Given the description of an element on the screen output the (x, y) to click on. 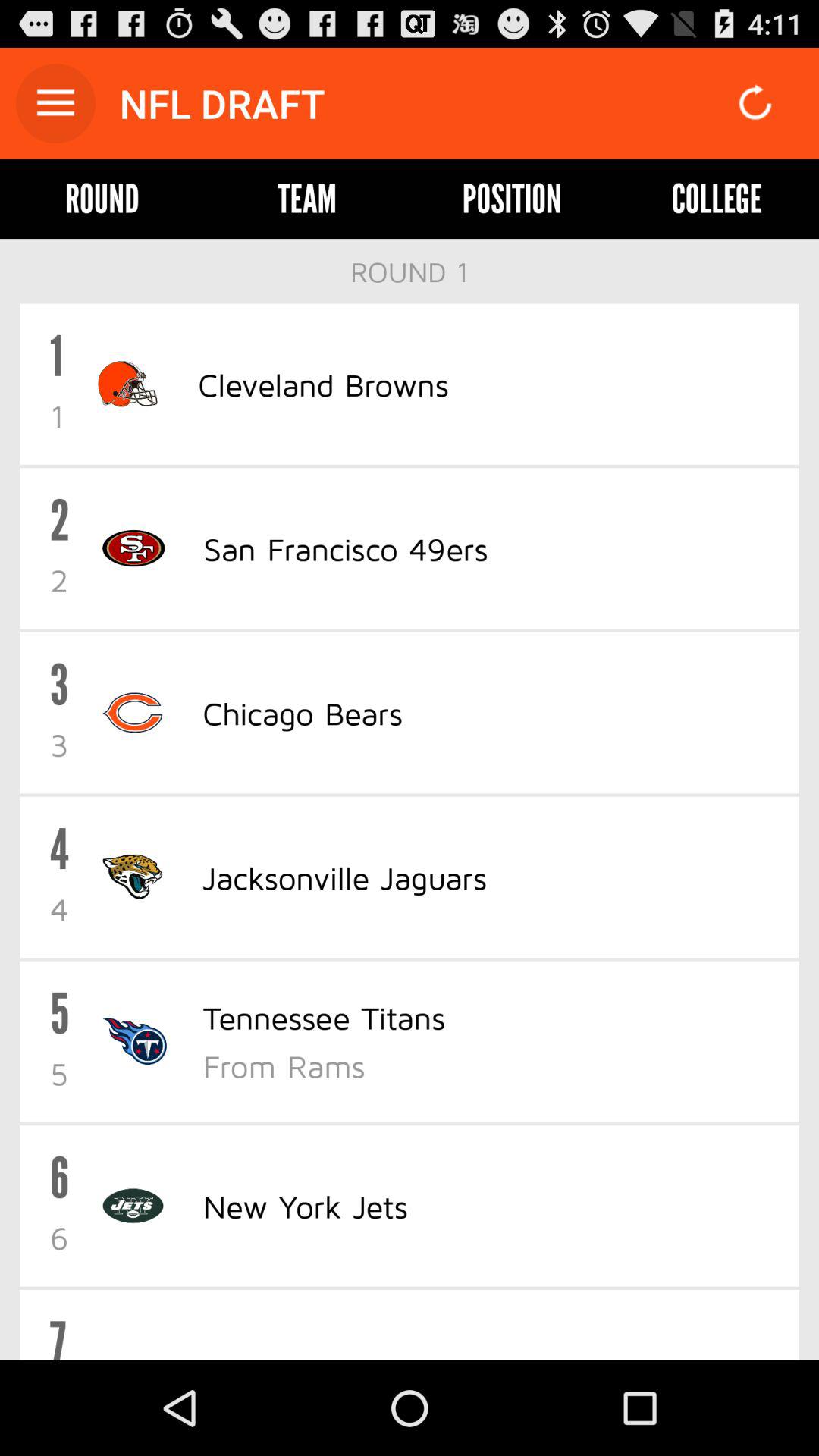
open main menu (55, 103)
